Given the description of an element on the screen output the (x, y) to click on. 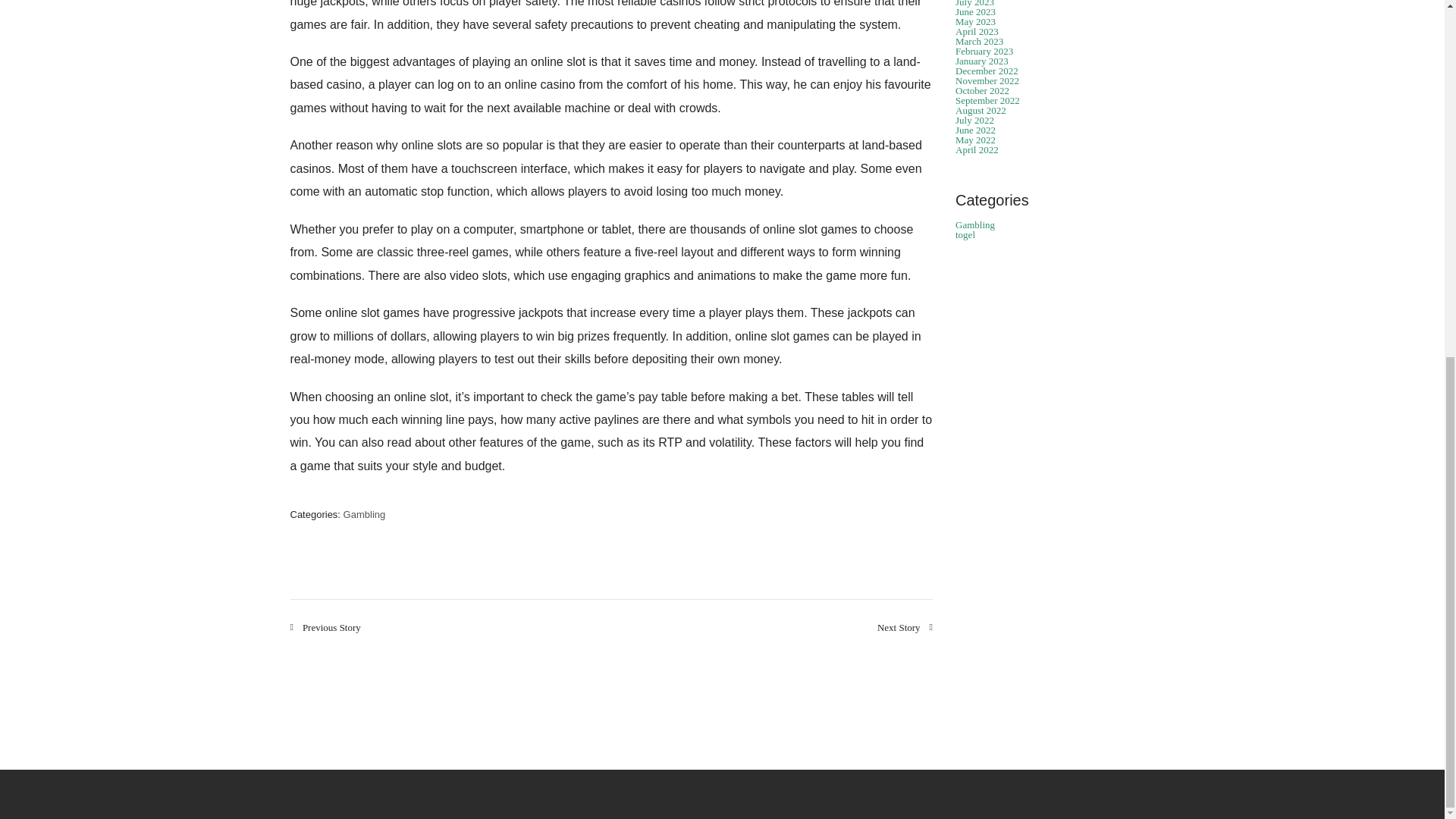
March 2023 (979, 41)
Gambling (364, 514)
August 2022 (980, 110)
Previous Story (324, 627)
February 2023 (984, 50)
May 2023 (975, 21)
Next Story (905, 627)
November 2022 (987, 80)
September 2022 (987, 100)
December 2022 (986, 70)
July 2023 (974, 3)
April 2023 (976, 30)
October 2022 (982, 90)
June 2023 (975, 11)
January 2023 (982, 60)
